Given the description of an element on the screen output the (x, y) to click on. 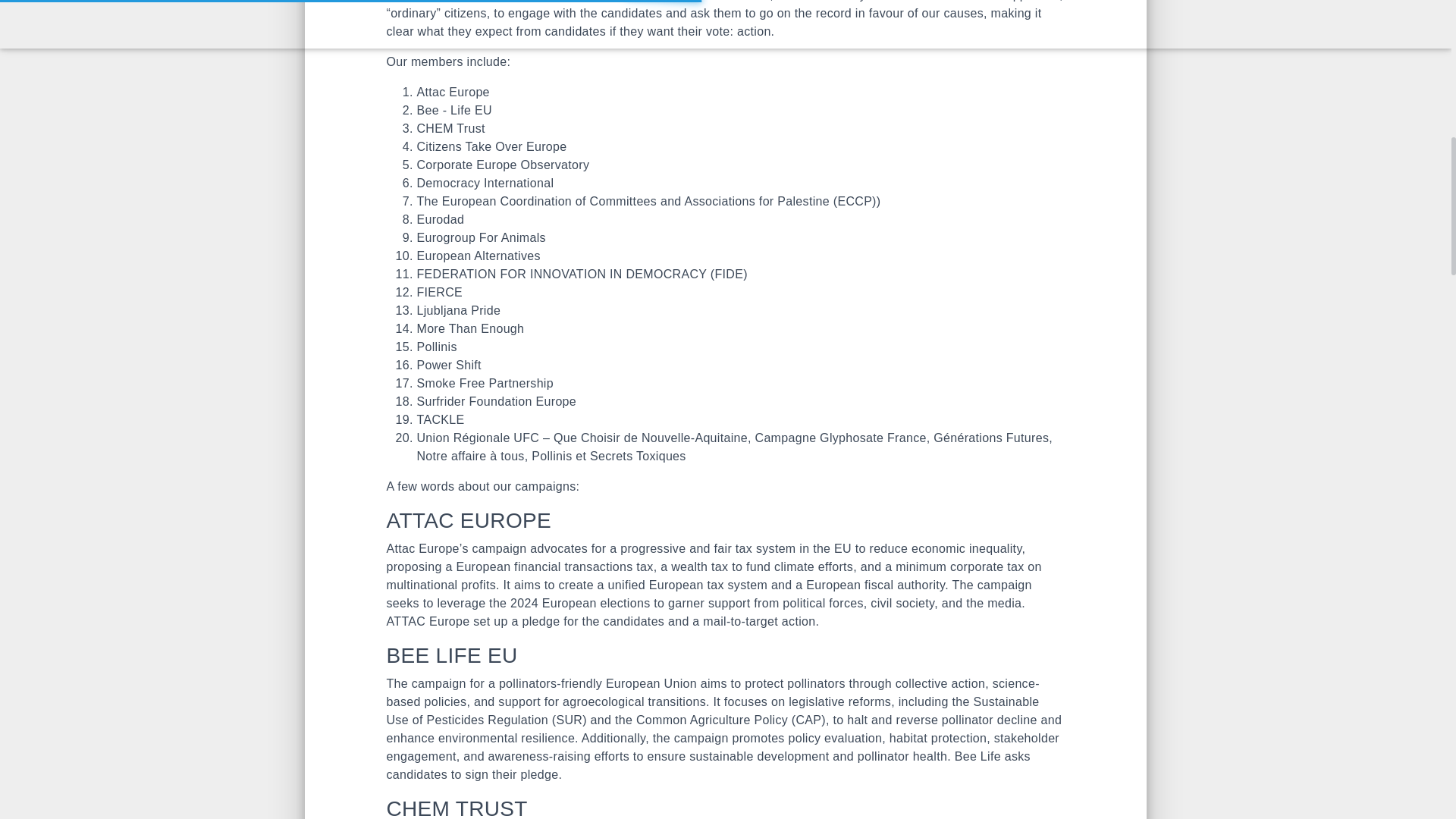
pledge (540, 621)
mail-to-target (740, 621)
pledge (538, 774)
